Given the description of an element on the screen output the (x, y) to click on. 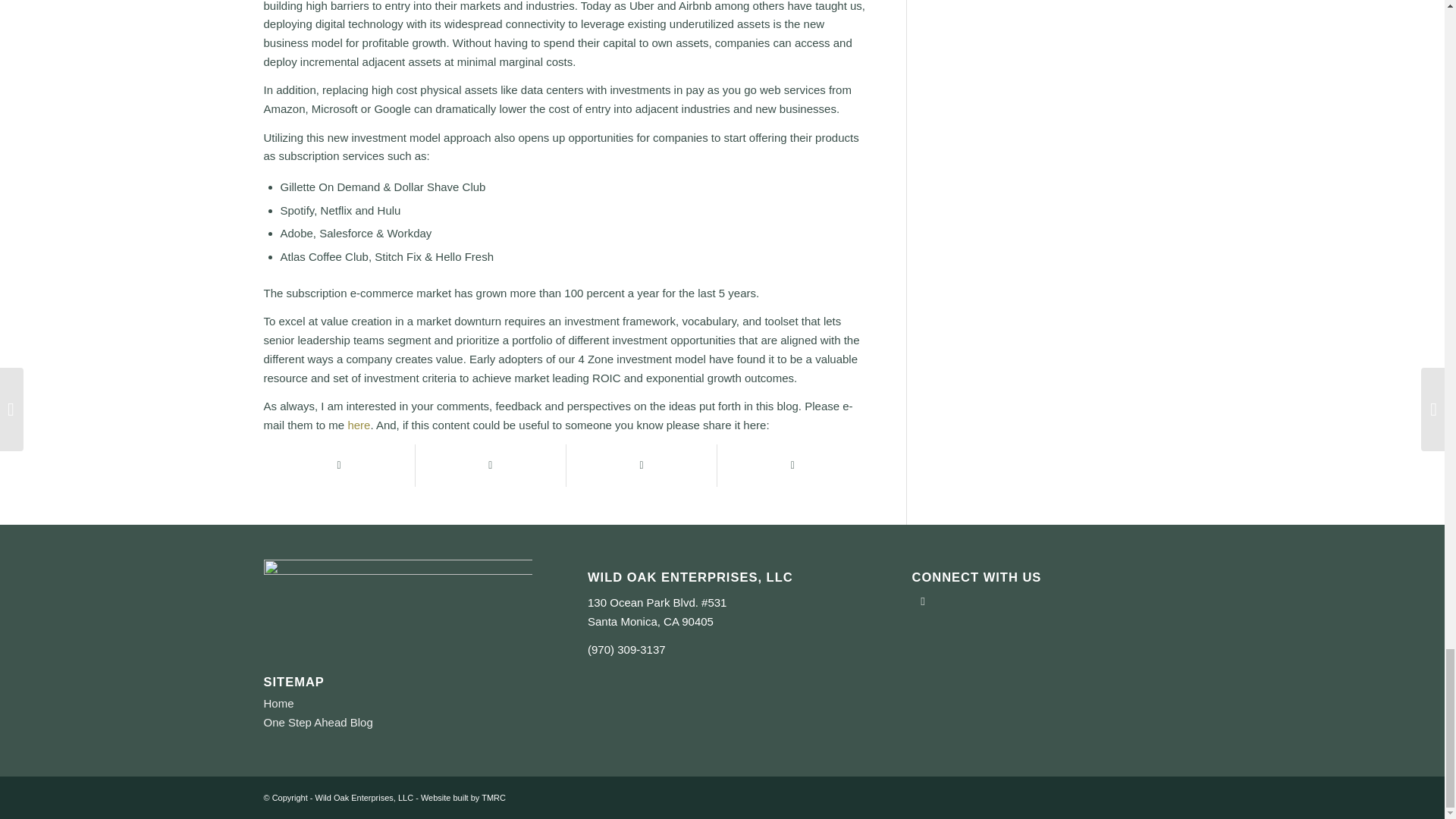
here (358, 424)
Linkedin (923, 600)
